Given the description of an element on the screen output the (x, y) to click on. 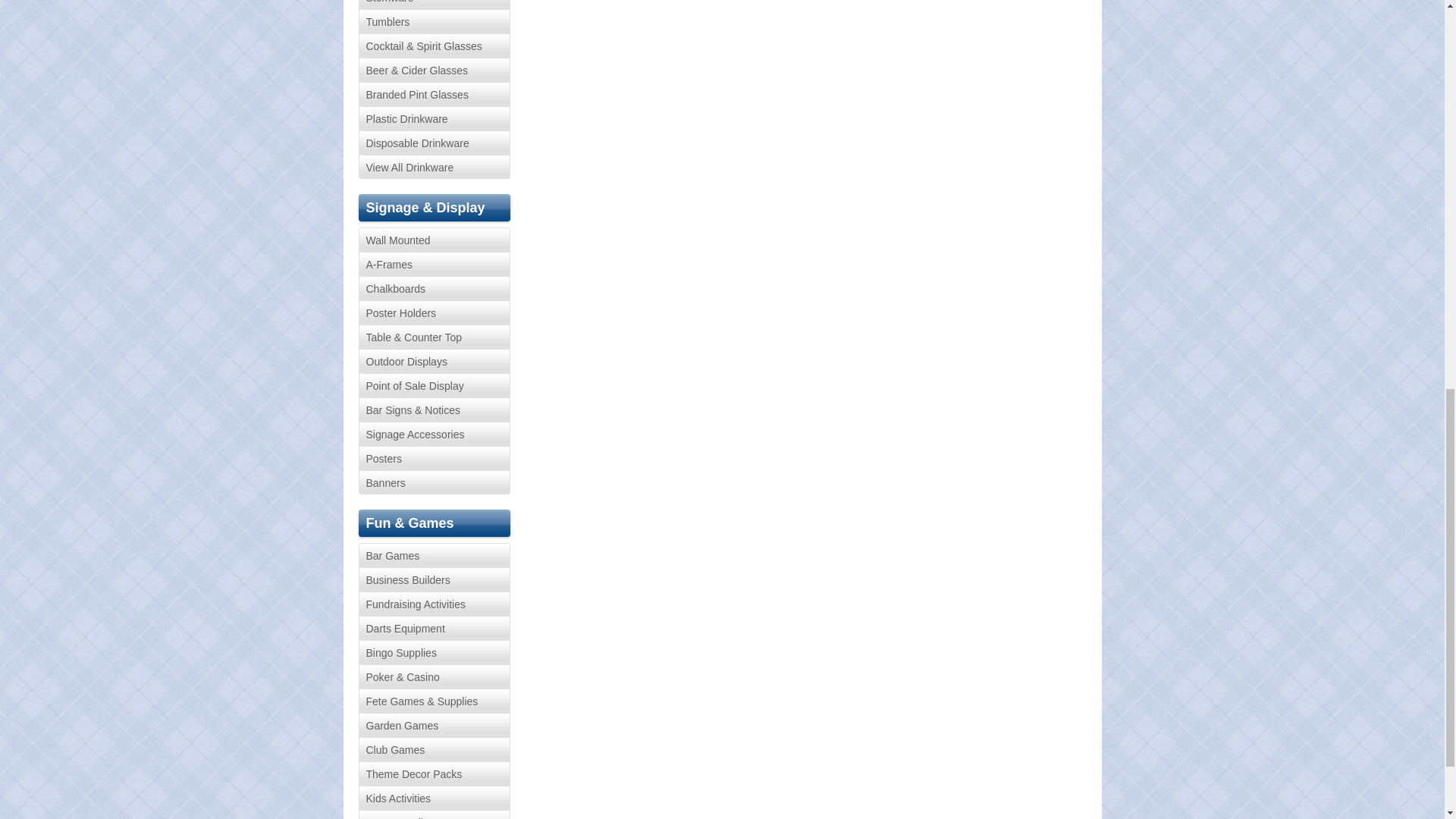
Bar Games (433, 554)
Stemware (433, 4)
Chalkboards (433, 288)
A-Frames (433, 263)
Banners (433, 482)
Disposable Drinkware (433, 142)
Posters (433, 457)
Branded Pint Glasses (433, 93)
Signage Accessories (433, 433)
Point of Sale Display (433, 385)
